Given the description of an element on the screen output the (x, y) to click on. 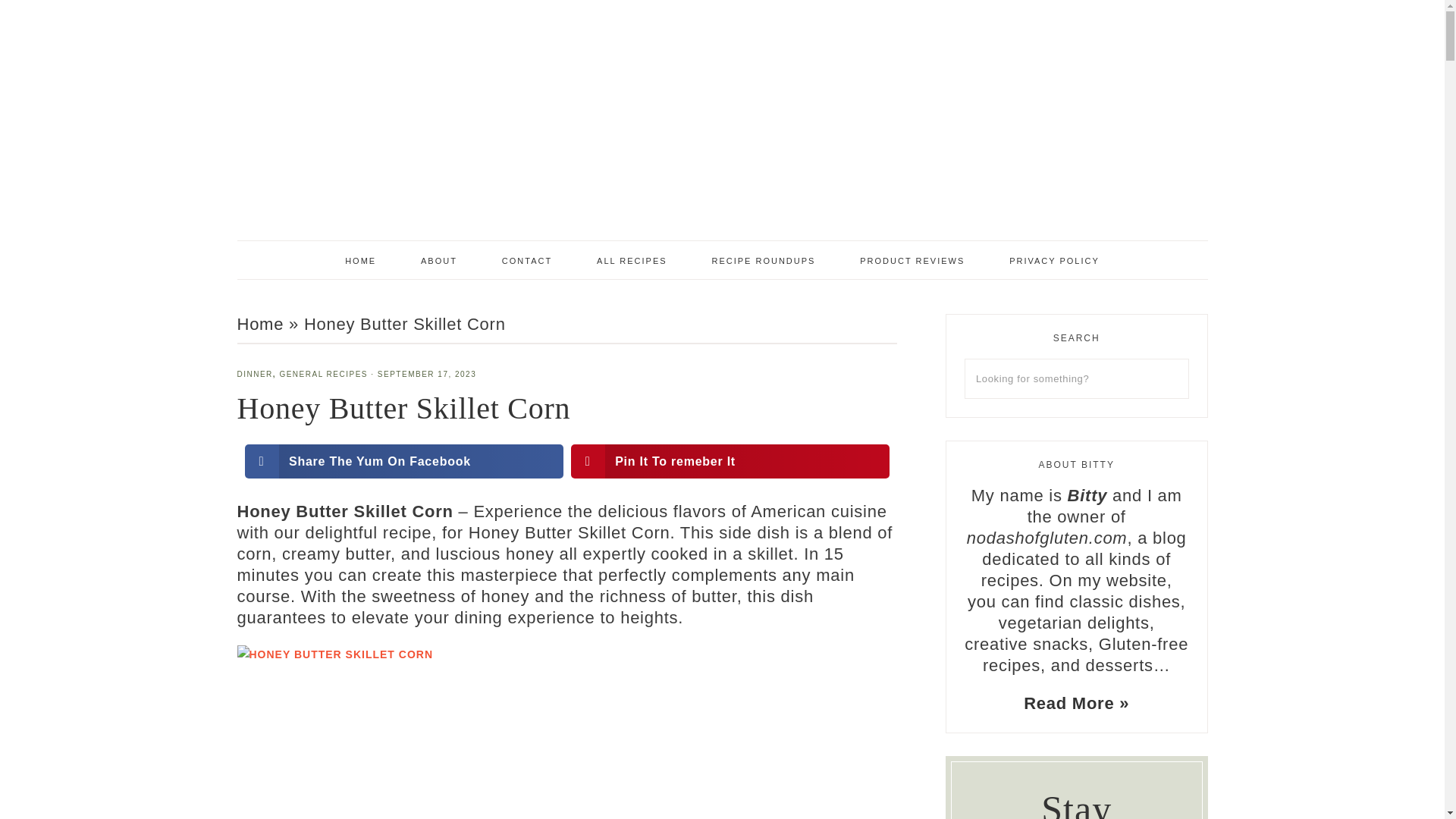
NO DASH OF GLUTEN (721, 149)
ABOUT (439, 259)
CONTACT (526, 259)
ALL RECIPES (631, 259)
HOME (360, 259)
